Given the description of an element on the screen output the (x, y) to click on. 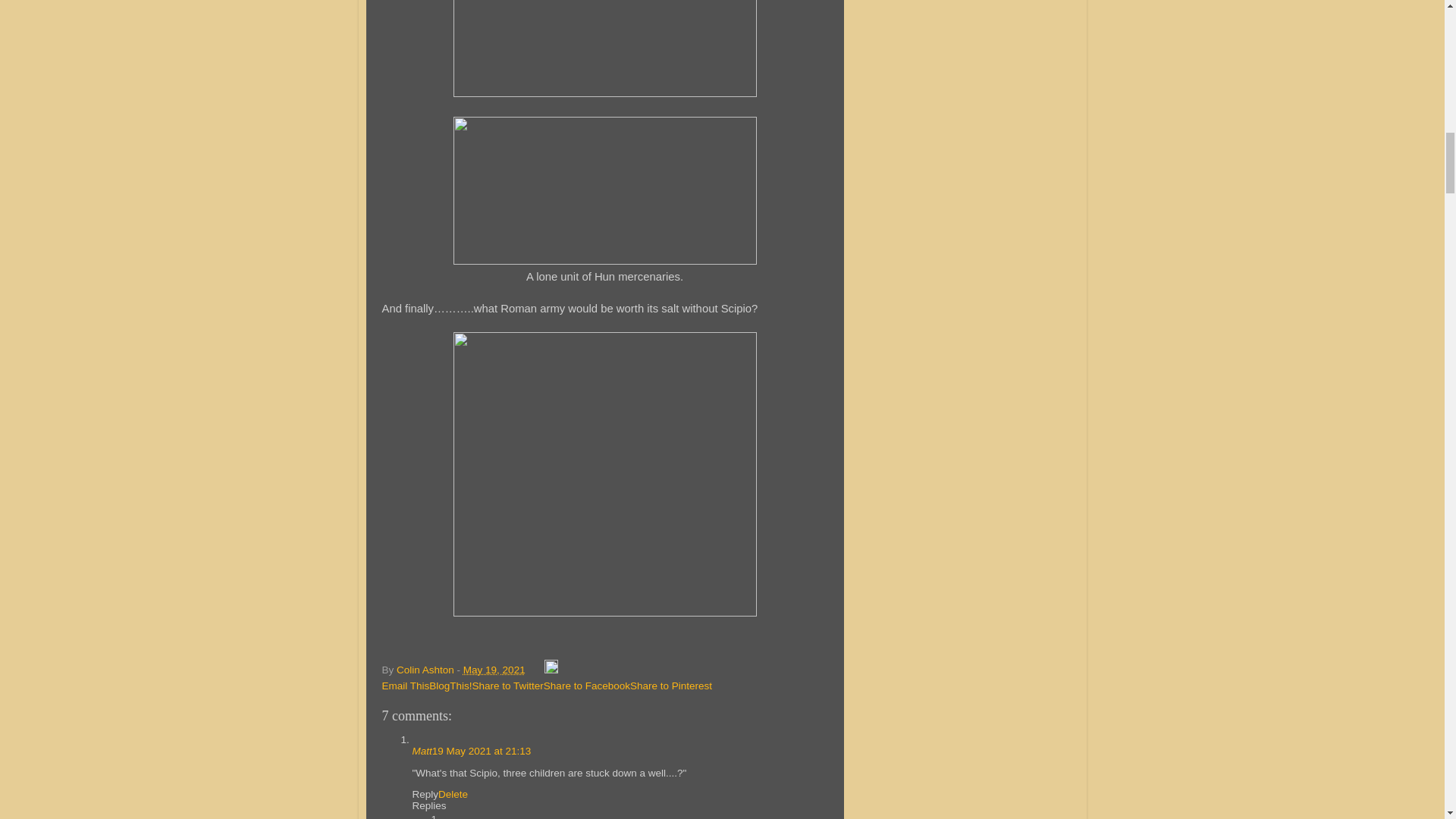
May 19, 2021 (494, 669)
Share to Twitter (507, 685)
Reply (425, 794)
19 May 2021 at 21:13 (481, 750)
Email Post (535, 669)
Share to Facebook (586, 685)
Email This (405, 685)
Edit Post (550, 669)
Share to Pinterest (670, 685)
Share to Twitter (507, 685)
Email This (405, 685)
Colin Ashton (426, 669)
author profile (426, 669)
Share to Pinterest (670, 685)
permanent link (494, 669)
